Given the description of an element on the screen output the (x, y) to click on. 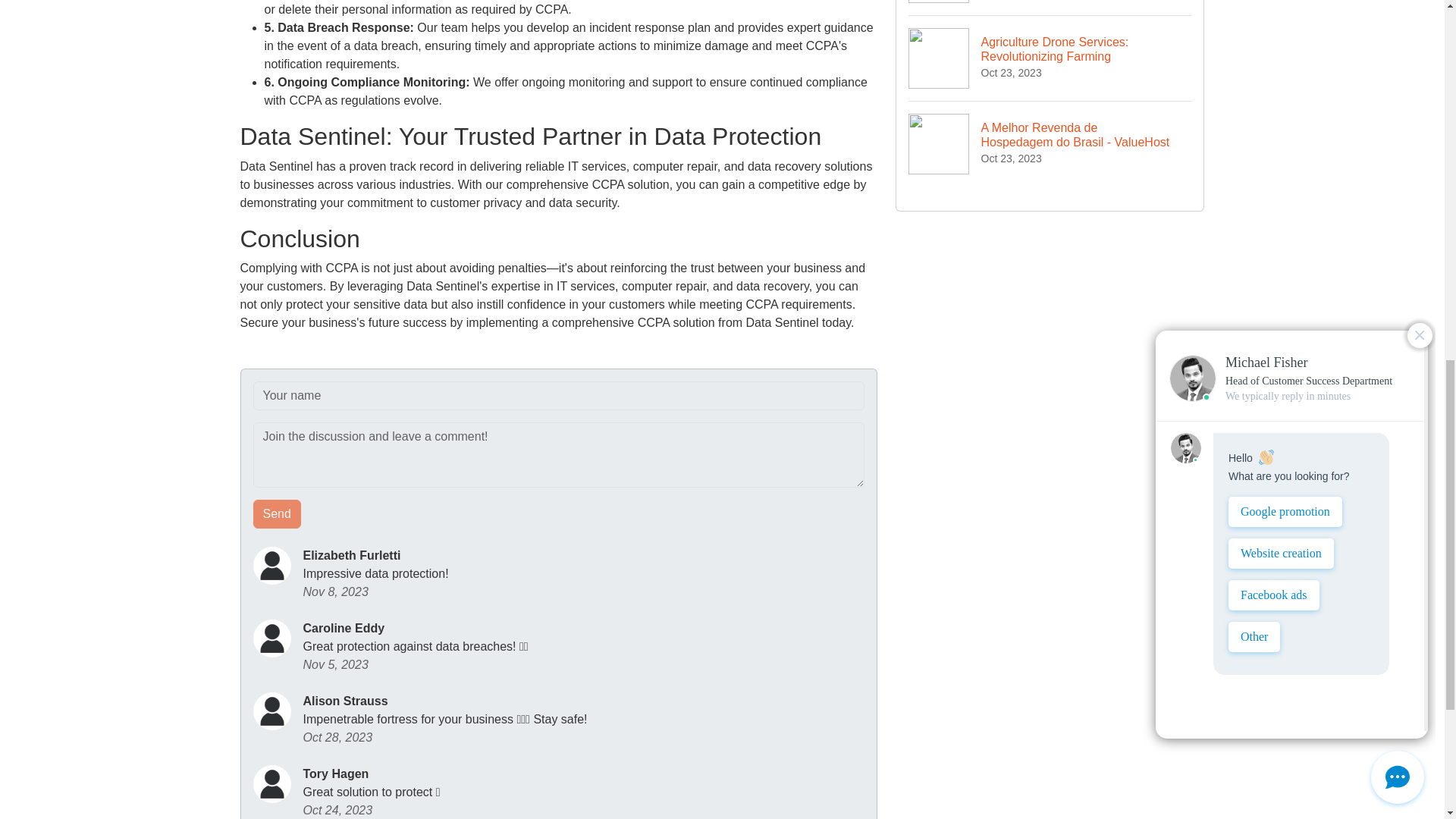
Send (277, 513)
Send (277, 513)
